Given the description of an element on the screen output the (x, y) to click on. 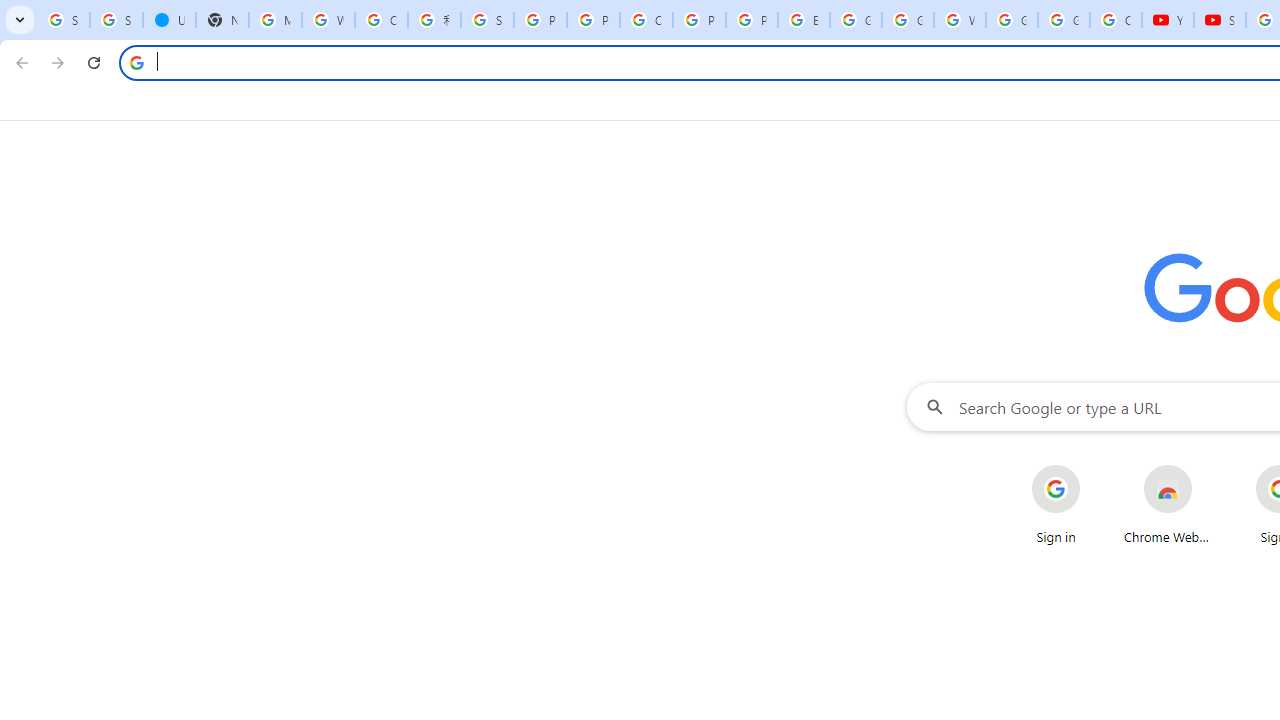
Create your Google Account (381, 20)
Sign in - Google Accounts (116, 20)
More actions for Chrome Web Store shortcut (1208, 466)
Subscriptions - YouTube (1219, 20)
Who is my administrator? - Google Account Help (328, 20)
More actions for Sign in shortcut (1095, 466)
Chrome Web Store (1167, 504)
Sign in - Google Accounts (487, 20)
